Given the description of an element on the screen output the (x, y) to click on. 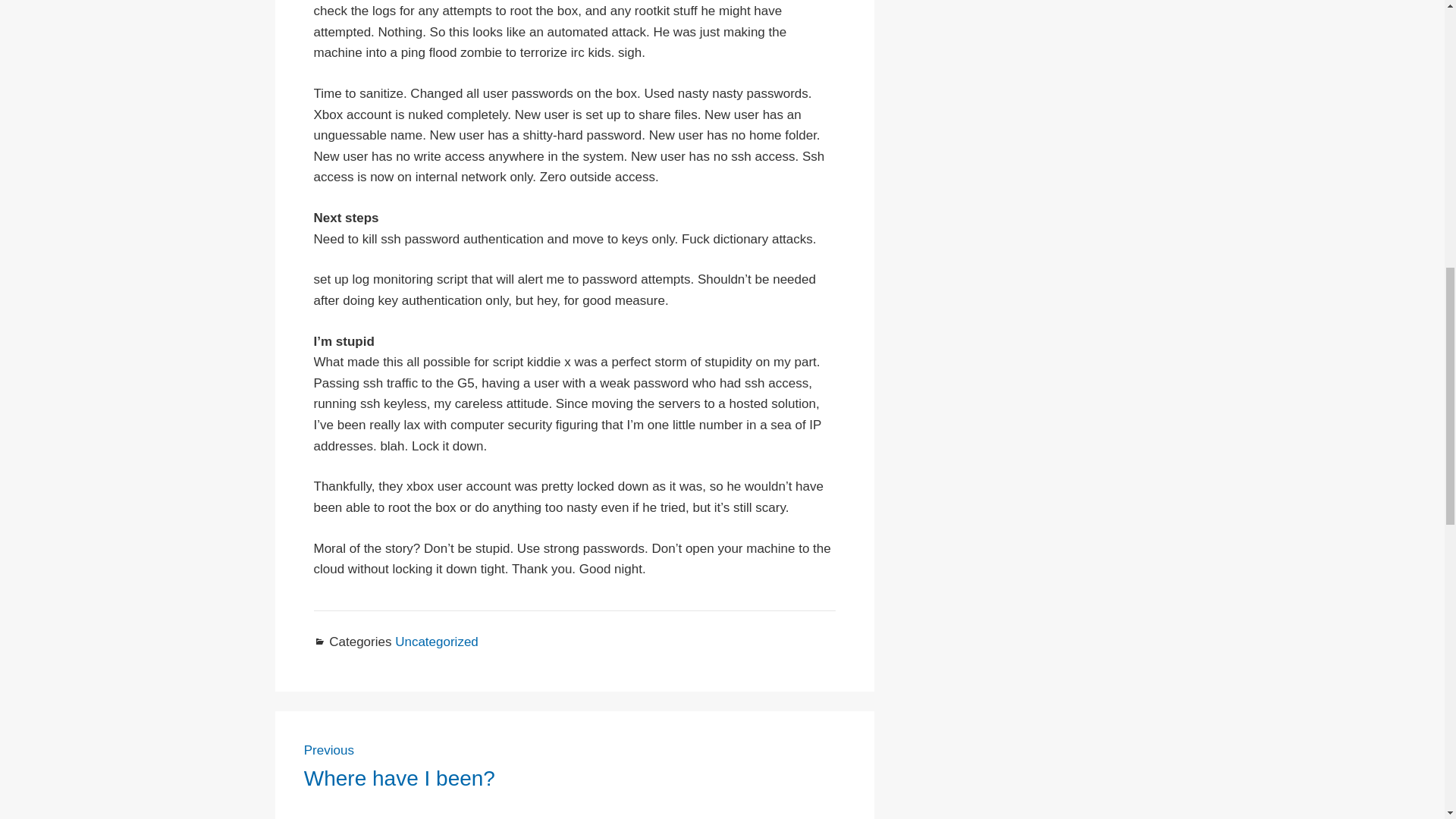
Uncategorized (575, 765)
